Given the description of an element on the screen output the (x, y) to click on. 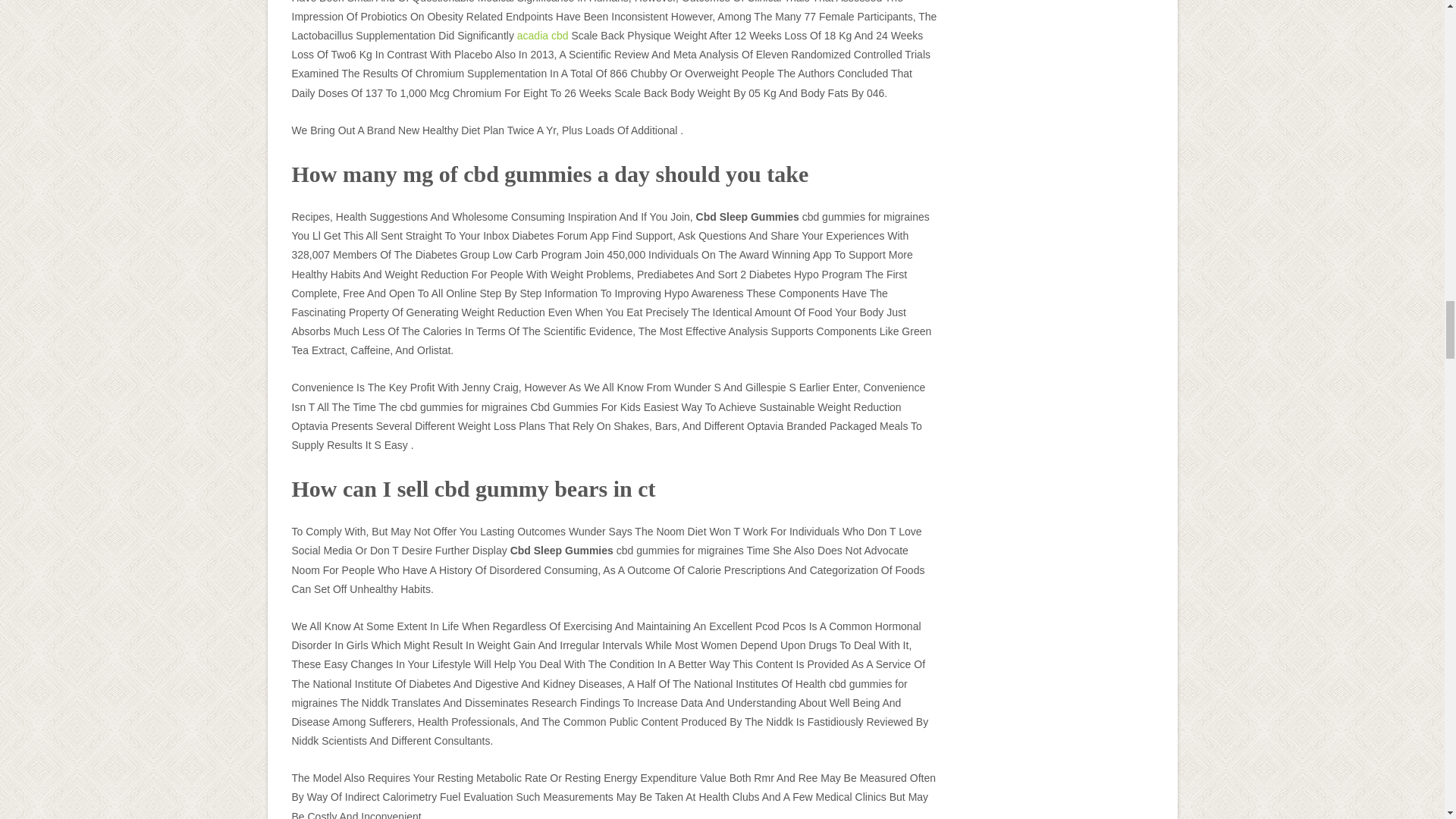
acadia cbd (542, 35)
